Given the description of an element on the screen output the (x, y) to click on. 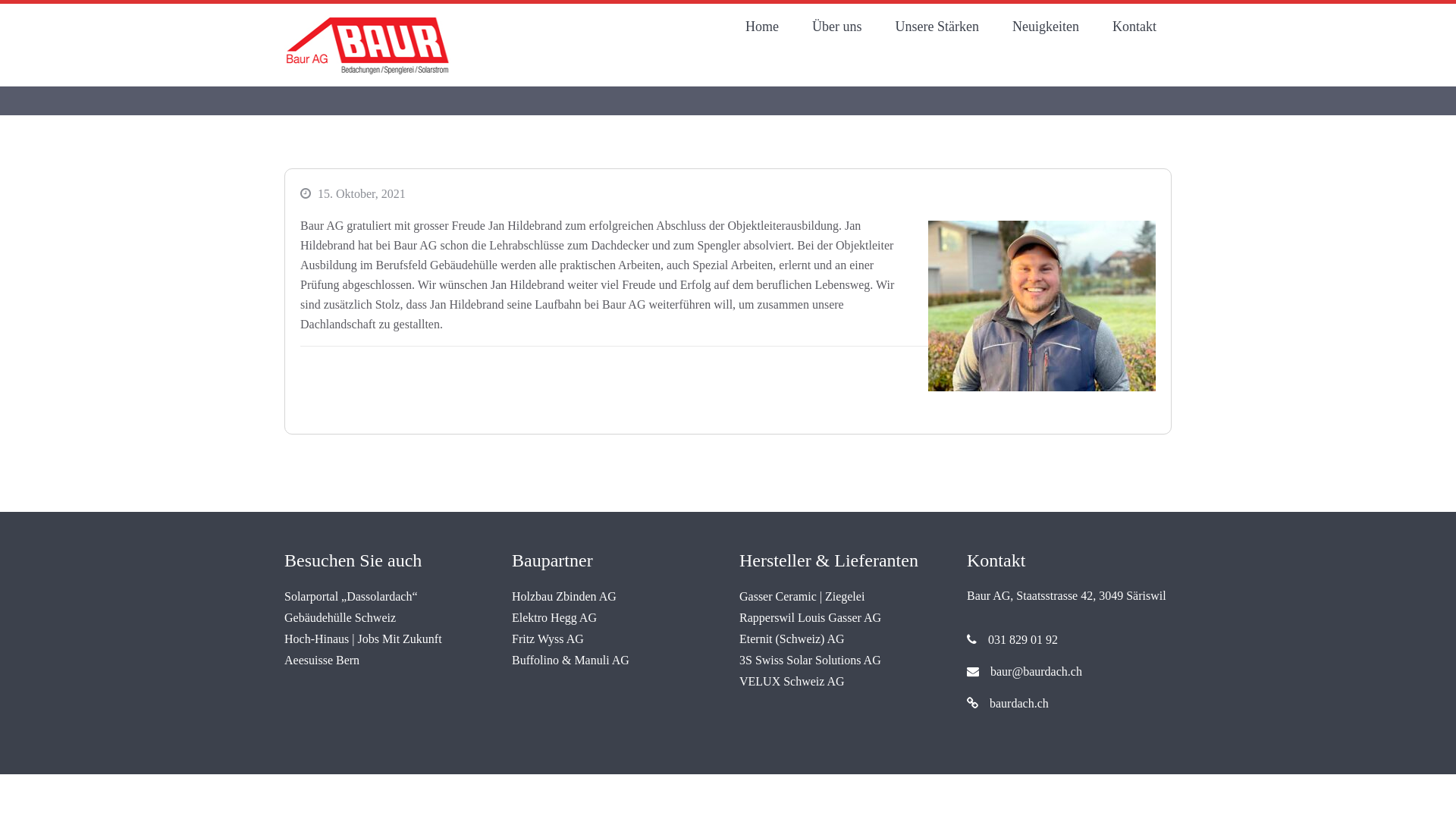
Hoch-Hinaus | Jobs Mit Zukunft Element type: text (363, 638)
Elektro Hegg AG Element type: text (553, 617)
baur@baurdach.ch Element type: text (1024, 671)
031 829 01 92 Element type: text (1068, 639)
baurdach.ch Element type: text (1007, 702)
Home Element type: text (761, 26)
VELUX Schweiz AG Element type: text (791, 680)
Holzbau Zbinden AG Element type: text (563, 595)
Eternit (Schweiz) AG Element type: text (791, 638)
Fritz Wyss AG Element type: text (547, 638)
3S Swiss Solar Solutions AG Element type: text (810, 659)
Aeesuisse Bern Element type: text (321, 659)
15. Oktober, 2021 Element type: text (361, 193)
Neuigkeiten Element type: text (1045, 26)
Buffolino & Manuli AG Element type: text (570, 659)
Kontakt Element type: text (1134, 26)
Gasser Ceramic | Ziegelei
Rapperswil Louis Gasser AG Element type: text (810, 606)
